Given the description of an element on the screen output the (x, y) to click on. 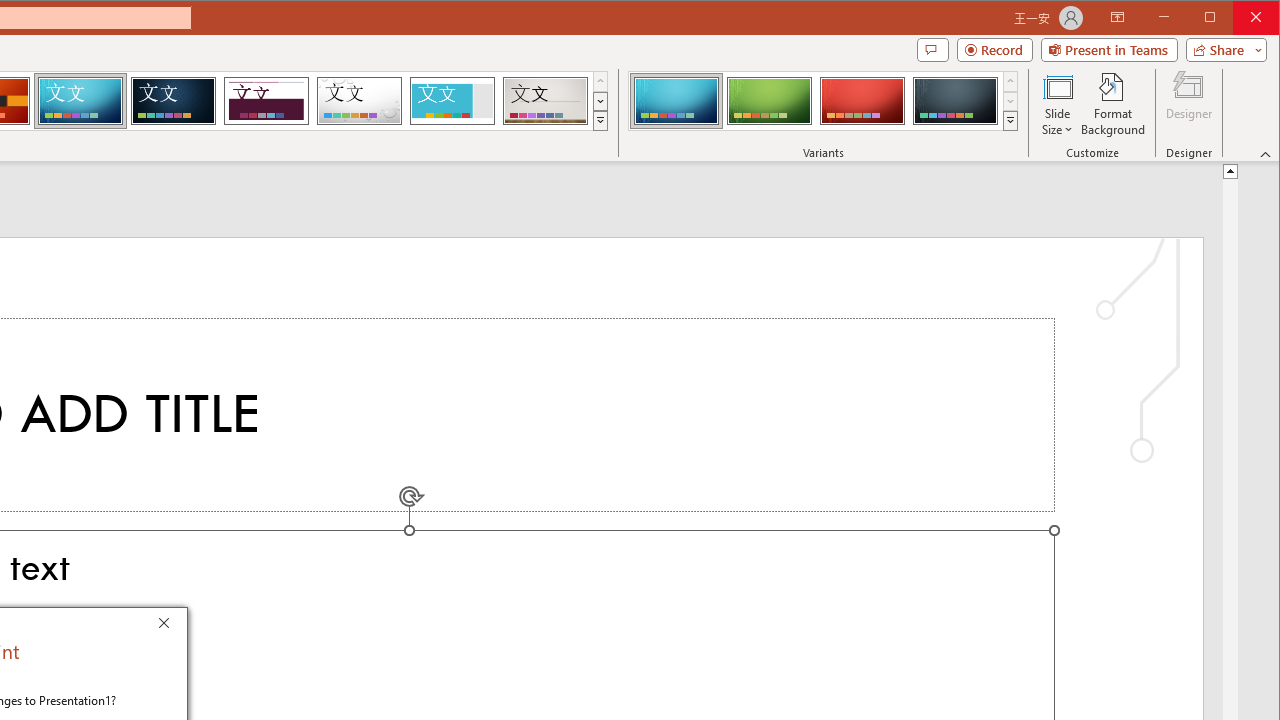
Dividend (266, 100)
Format Background (1113, 104)
Circuit (80, 100)
AutomationID: ThemeVariantsGallery (824, 101)
Droplet (359, 100)
Circuit Variant 1 (676, 100)
Line up (1230, 170)
Frame (452, 100)
Circuit Variant 3 (862, 100)
Slide Size (1057, 104)
